Given the description of an element on the screen output the (x, y) to click on. 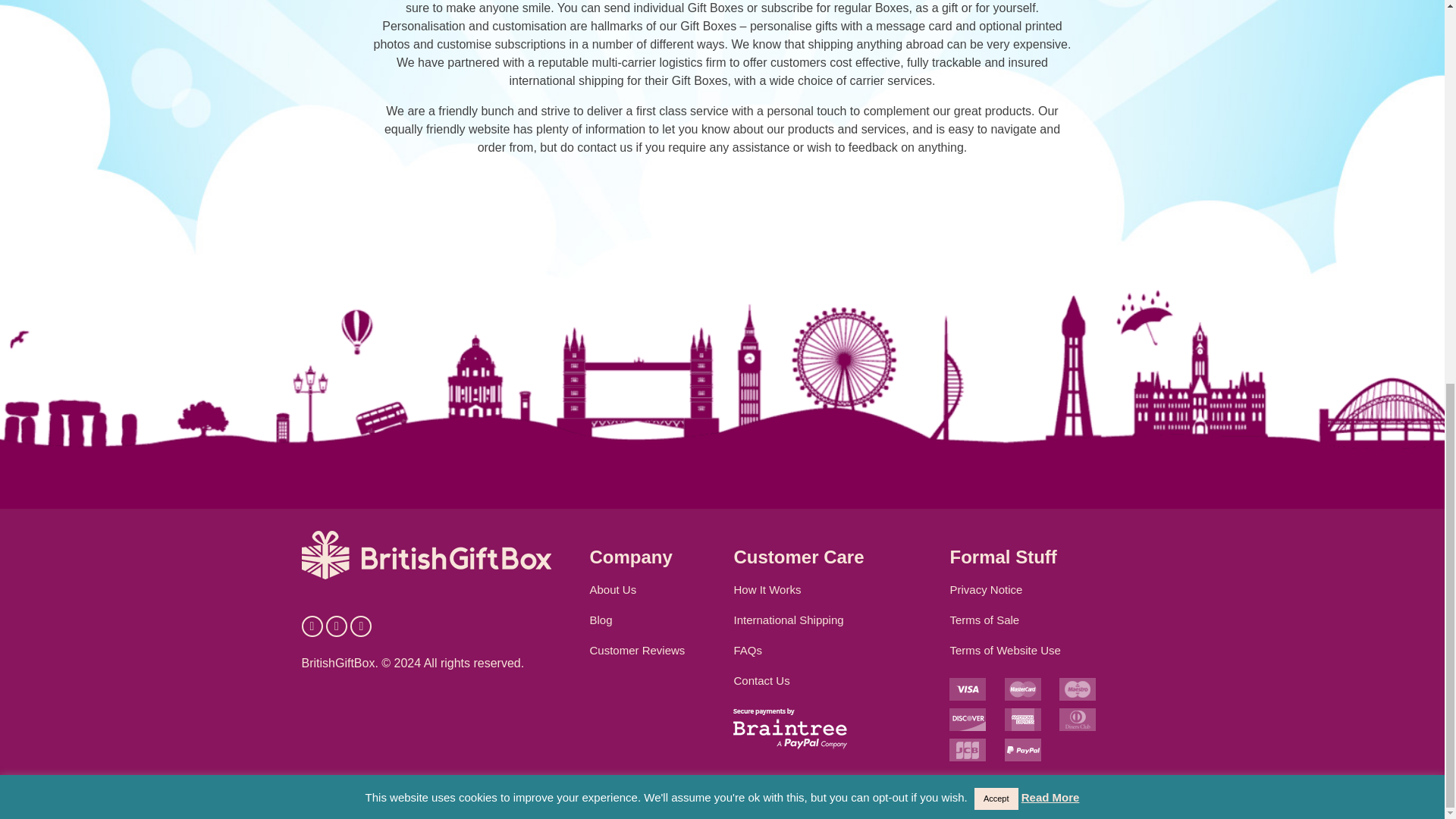
Terms of Website Use (1004, 649)
Contact Us (761, 680)
International Shipping (788, 619)
Customer Reviews (636, 649)
About Us (612, 589)
Privacy Notice (985, 589)
FAQs (747, 649)
How It Works (766, 589)
Blog (600, 619)
Terms of Sale (984, 619)
